Given the description of an element on the screen output the (x, y) to click on. 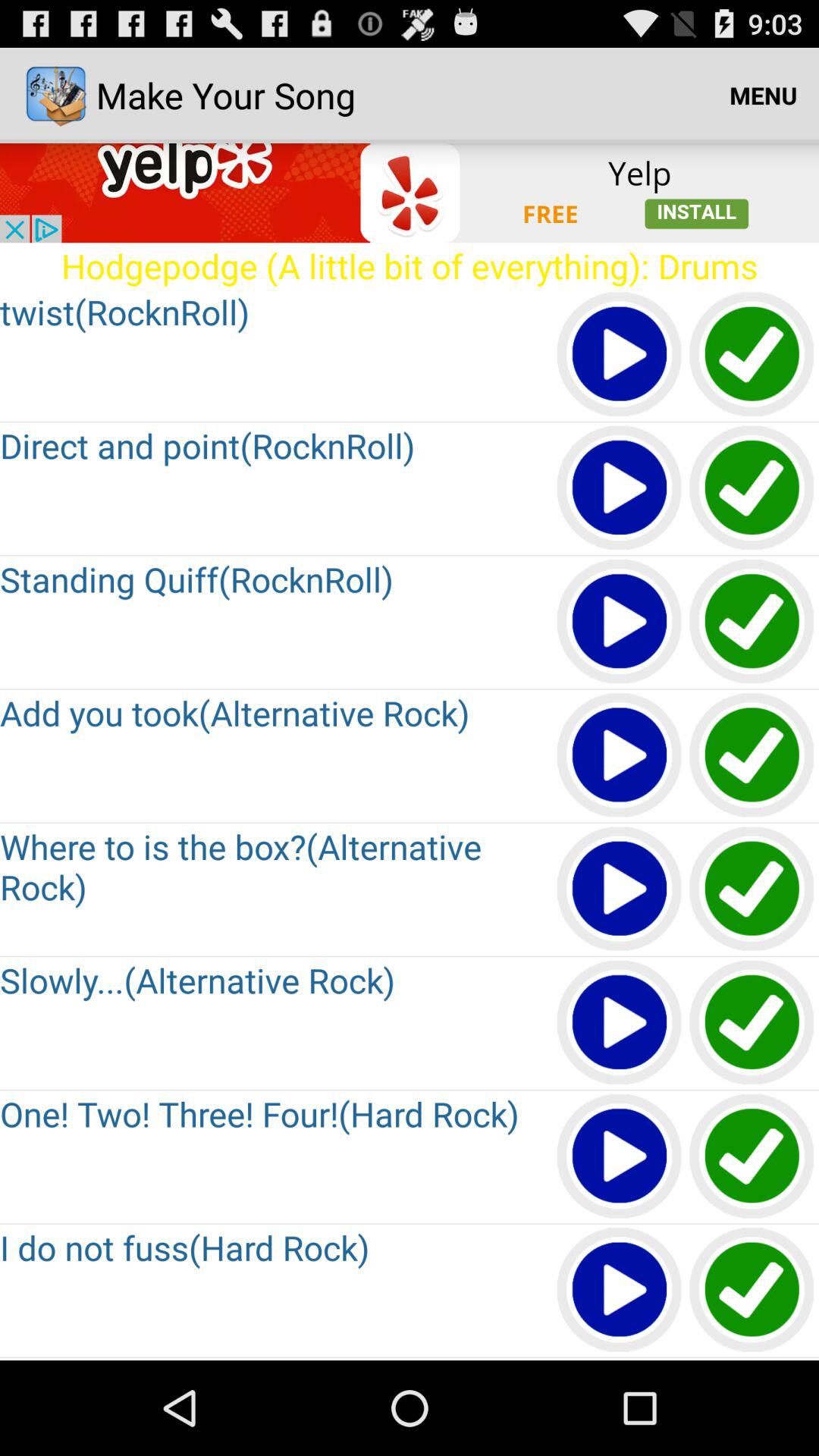
play (619, 622)
